Given the description of an element on the screen output the (x, y) to click on. 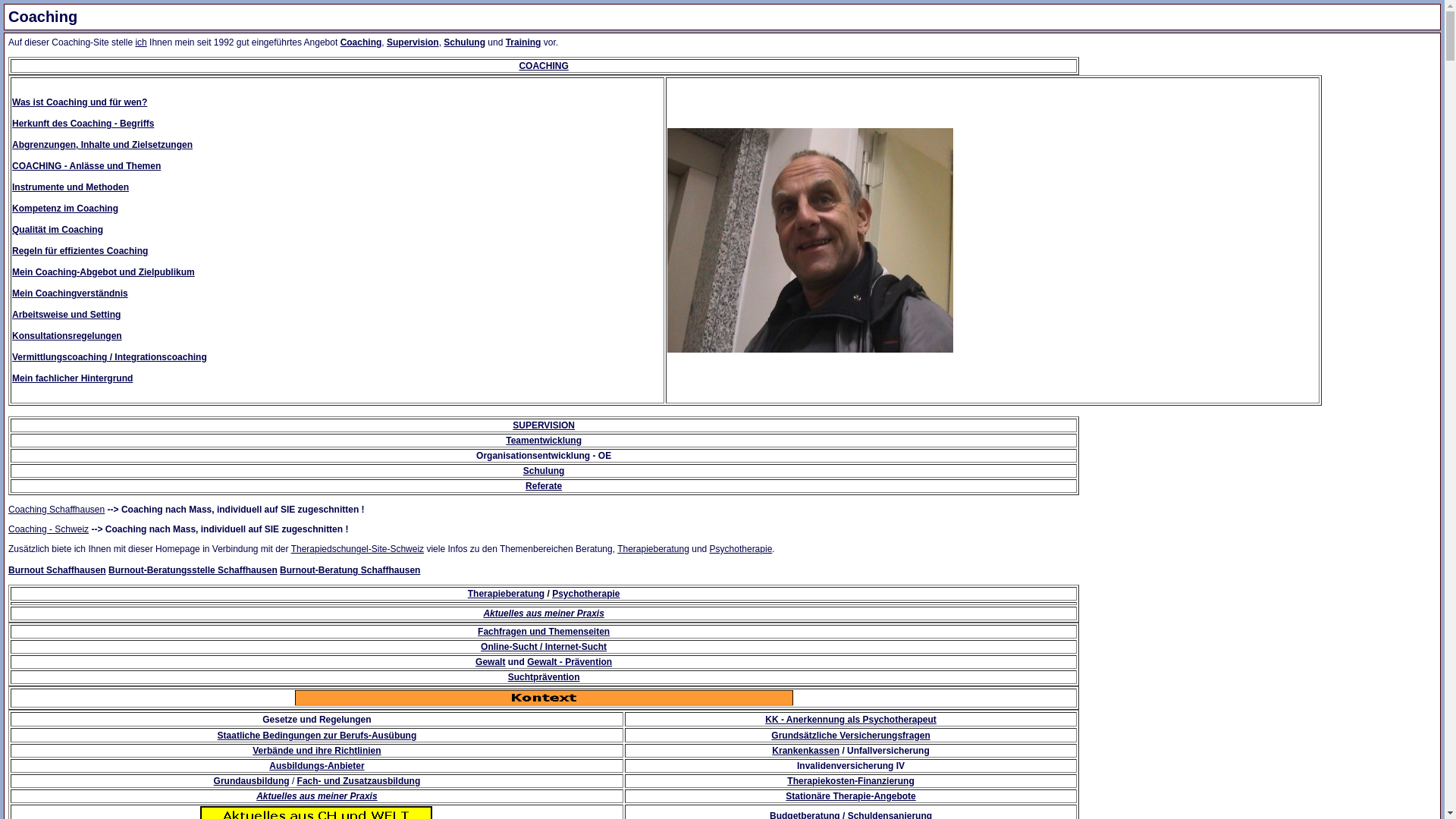
COACHING Element type: text (542, 65)
Coaching Element type: text (361, 42)
SUPERVISION Element type: text (543, 425)
Aktuelles aus meiner Praxis Element type: text (316, 795)
Fach- und Zusatzausbildung Element type: text (358, 780)
Therapieberatung Element type: text (653, 548)
Psychotherapie Element type: text (585, 593)
Coaching - Schweiz Element type: text (48, 529)
Ausbildungs-Anbieter Element type: text (316, 765)
Aktuelles aus meiner Praxis Element type: text (543, 613)
Therapiedschungel-Site-Schweiz Element type: text (357, 548)
Burnout-Beratungsstelle Schaffhausen Element type: text (192, 569)
Teamentwicklung Element type: text (543, 440)
Gewalt Element type: text (490, 661)
Mein Coaching-Abgebot und Zielpublikum Element type: text (103, 271)
KK - Anerkennung als Psychotherapeut Element type: text (850, 719)
Burnout Schaffhausen Element type: text (57, 569)
Therapiekosten-Finanzierung Element type: text (850, 780)
Konsultationsregelungen Element type: text (67, 335)
Arbeitsweise und Setting Element type: text (66, 314)
Krankenkassen Element type: text (805, 750)
Mein fachlicher Hintergrund Element type: text (72, 378)
Fachfragen und Themenseiten Element type: text (543, 631)
Grundausbildung Element type: text (251, 780)
Therapieberatung Element type: text (505, 593)
Referate Element type: text (543, 485)
ich Element type: text (140, 42)
Schulung Element type: text (464, 42)
Kompetenz im Coaching Element type: text (65, 208)
Psychotherapie Element type: text (740, 548)
Online-Sucht / Internet-Sucht Element type: text (543, 646)
Instrumente und Methoden Element type: text (70, 187)
Herkunft des Coaching - Begriffs Element type: text (82, 123)
Schulung Element type: text (543, 470)
Training Element type: text (523, 42)
Abgrenzungen, Inhalte und Zielsetzungen Element type: text (102, 144)
Coaching Schaffhausen Element type: text (56, 509)
Supervision Element type: text (412, 42)
Burnout-Beratung Schaffhausen Element type: text (349, 569)
Vermittlungscoaching / Integrationscoaching Element type: text (109, 356)
